Given the description of an element on the screen output the (x, y) to click on. 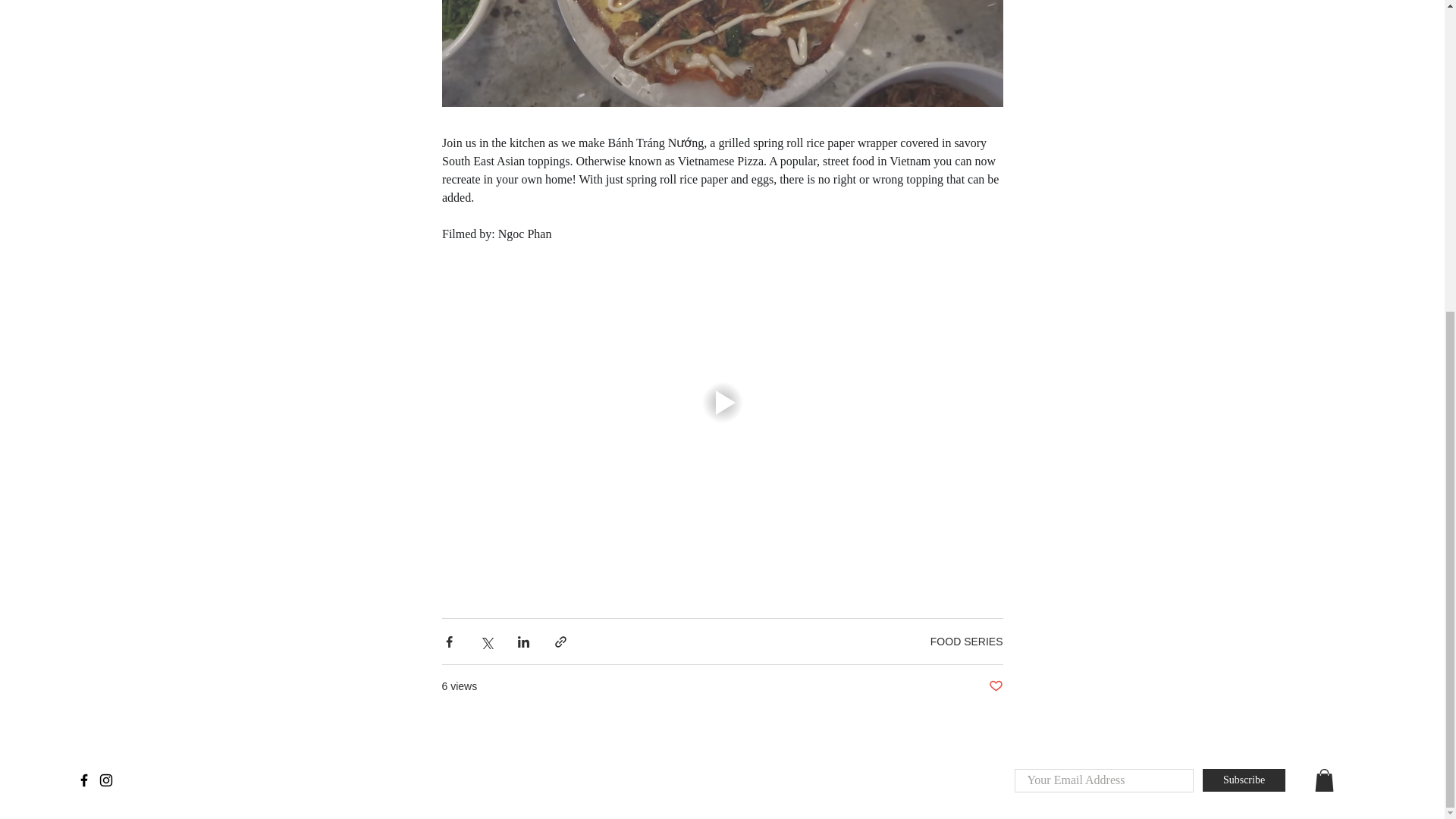
Post not marked as liked (995, 686)
FOOD SERIES (966, 641)
Subscribe (1243, 780)
